Given the description of an element on the screen output the (x, y) to click on. 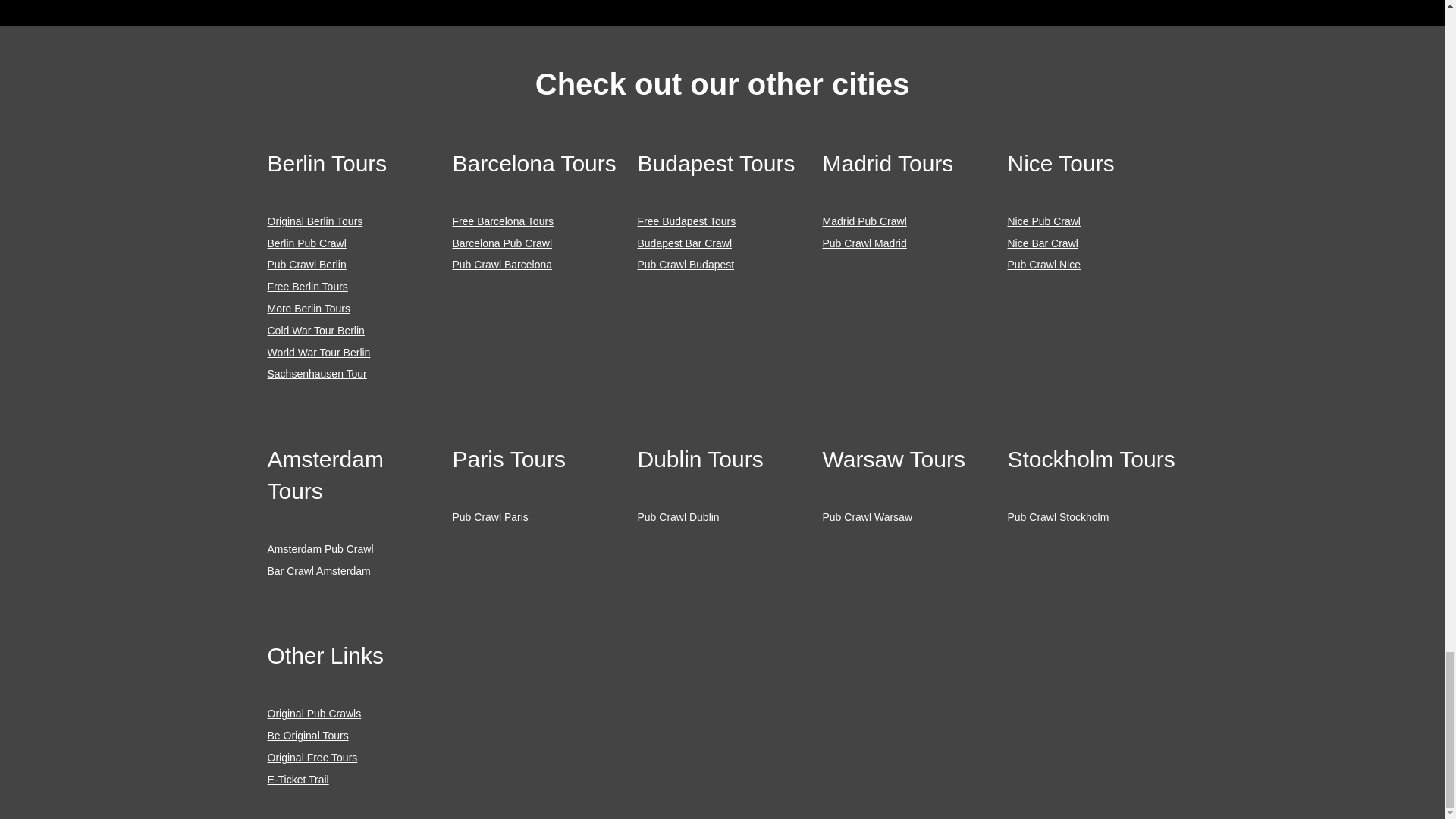
Free Berlin Tours (306, 286)
Original Berlin Tours (314, 221)
Pub Crawl Berlin (306, 264)
More Berlin Tours (307, 308)
Berlin Pub Crawl (306, 243)
